Given the description of an element on the screen output the (x, y) to click on. 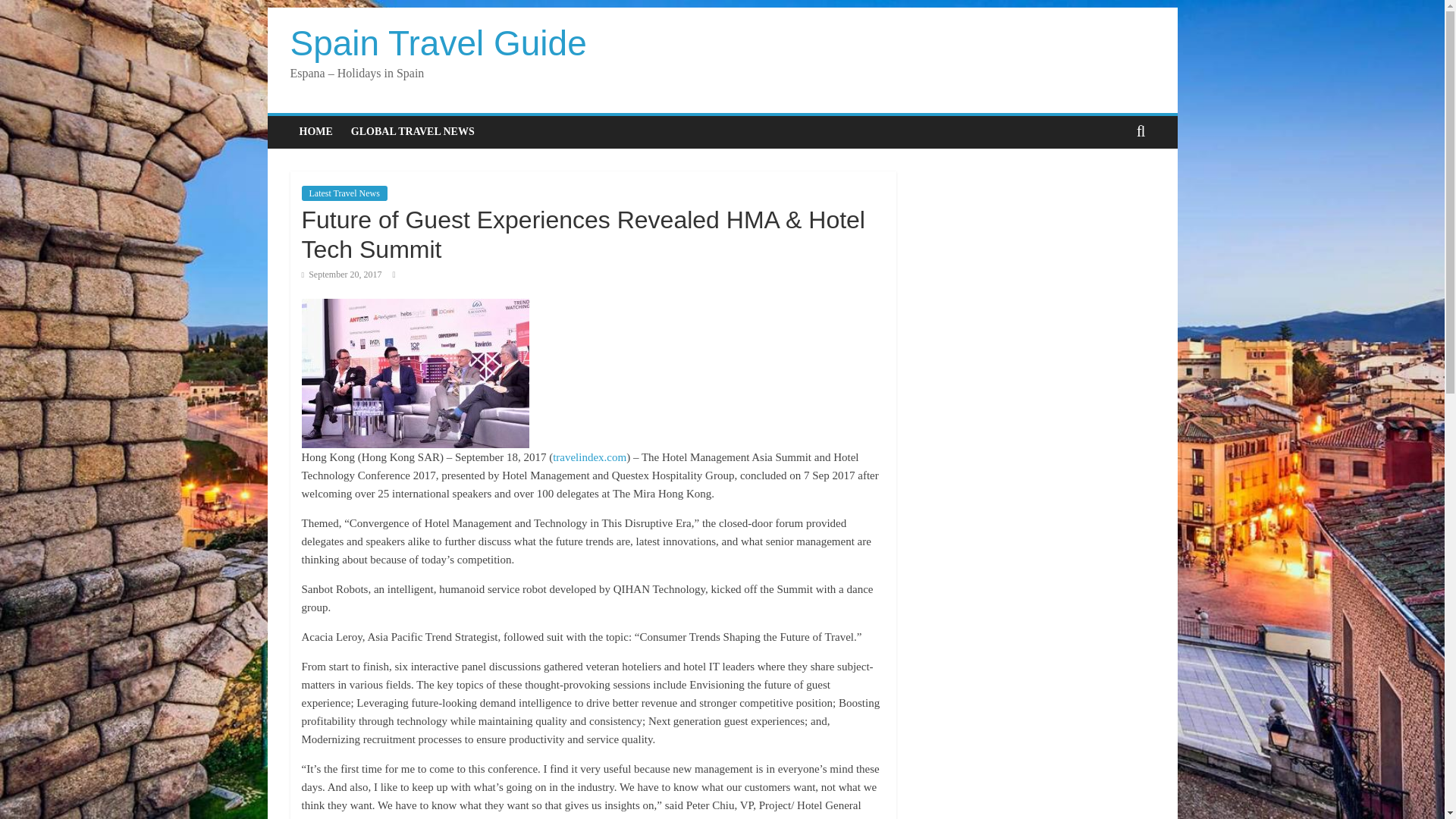
travelindex.com (589, 457)
Latest Travel News (344, 192)
Spain Travel Guide (437, 43)
10:01 am (341, 274)
September 20, 2017 (341, 274)
GLOBAL TRAVEL NEWS (412, 132)
Spain Travel Guide (437, 43)
HOME (314, 132)
travel-image-HMA Summit-HTC-2017 (415, 372)
